Given the description of an element on the screen output the (x, y) to click on. 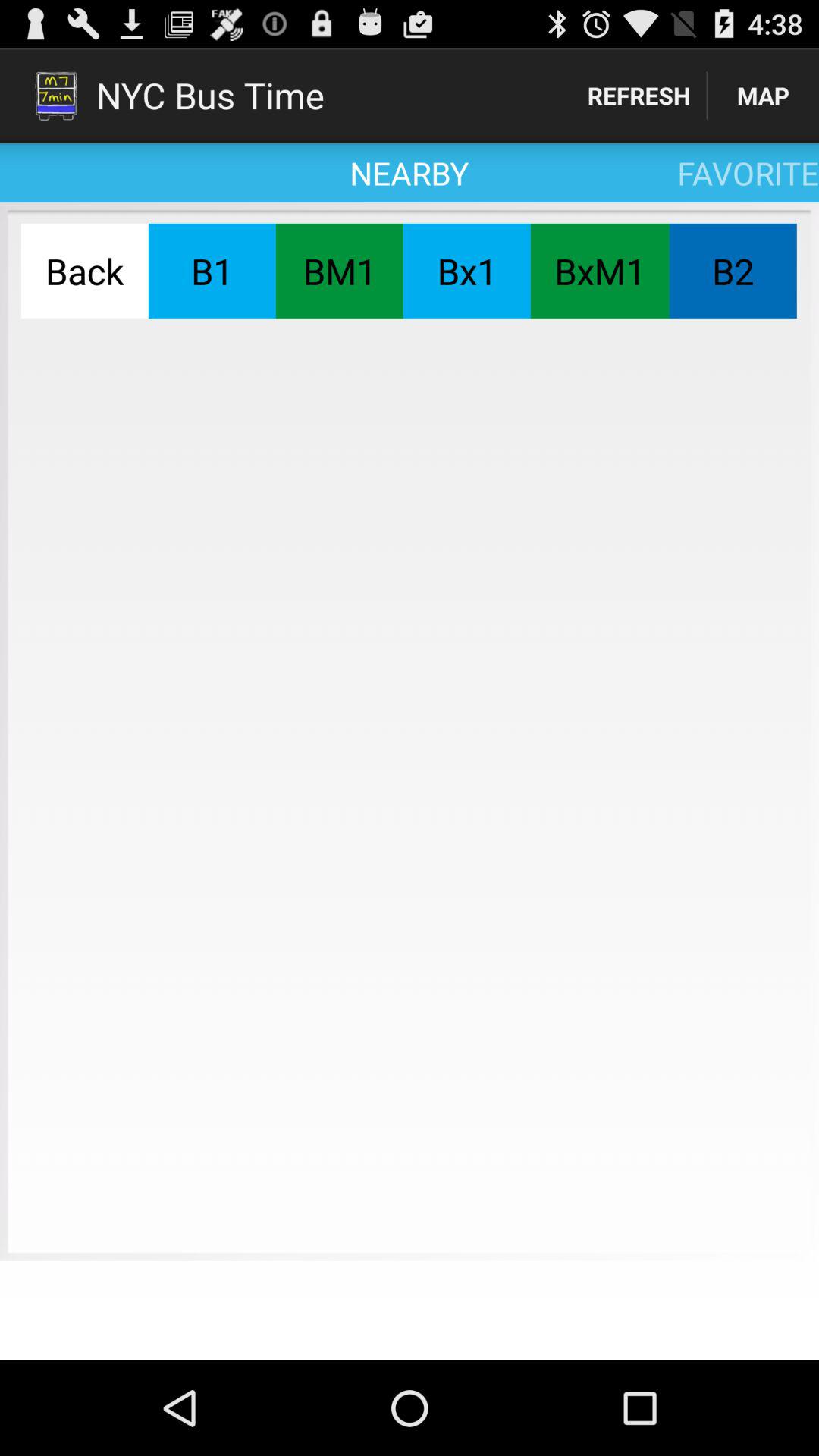
swipe to the b1 (211, 271)
